Given the description of an element on the screen output the (x, y) to click on. 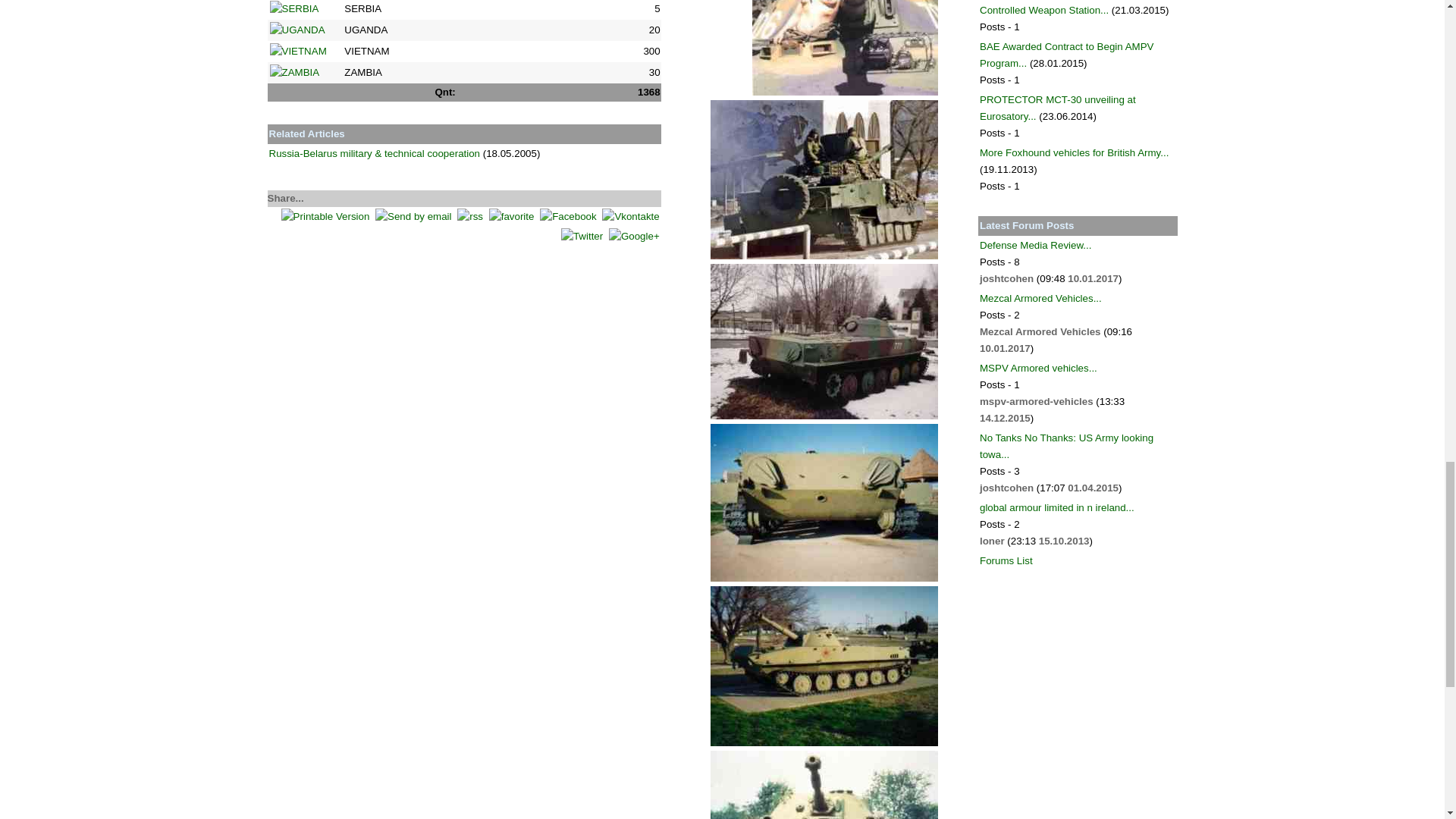
SERBIA (293, 8)
